Given the description of an element on the screen output the (x, y) to click on. 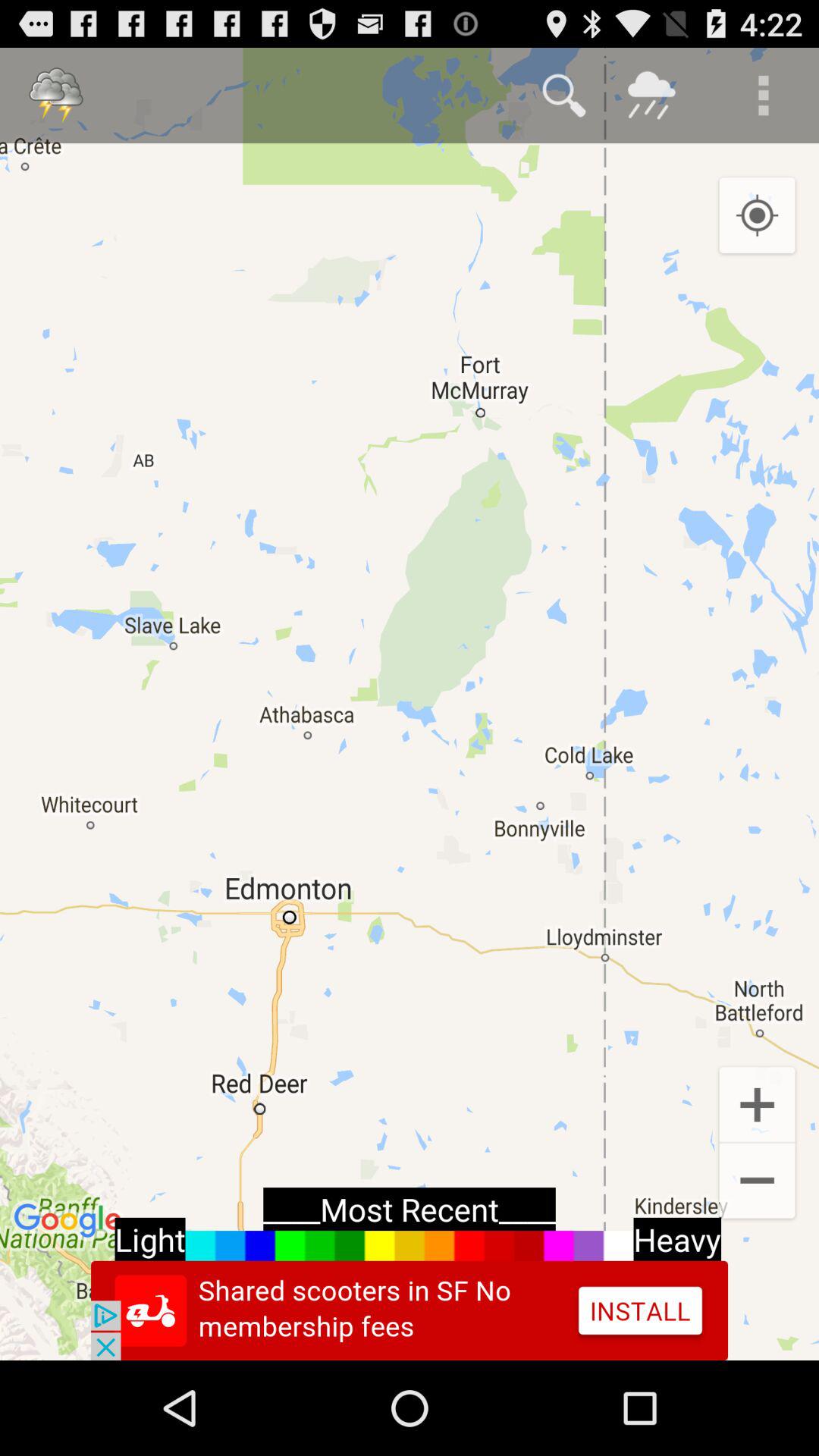
open advertisement (409, 1310)
